Given the description of an element on the screen output the (x, y) to click on. 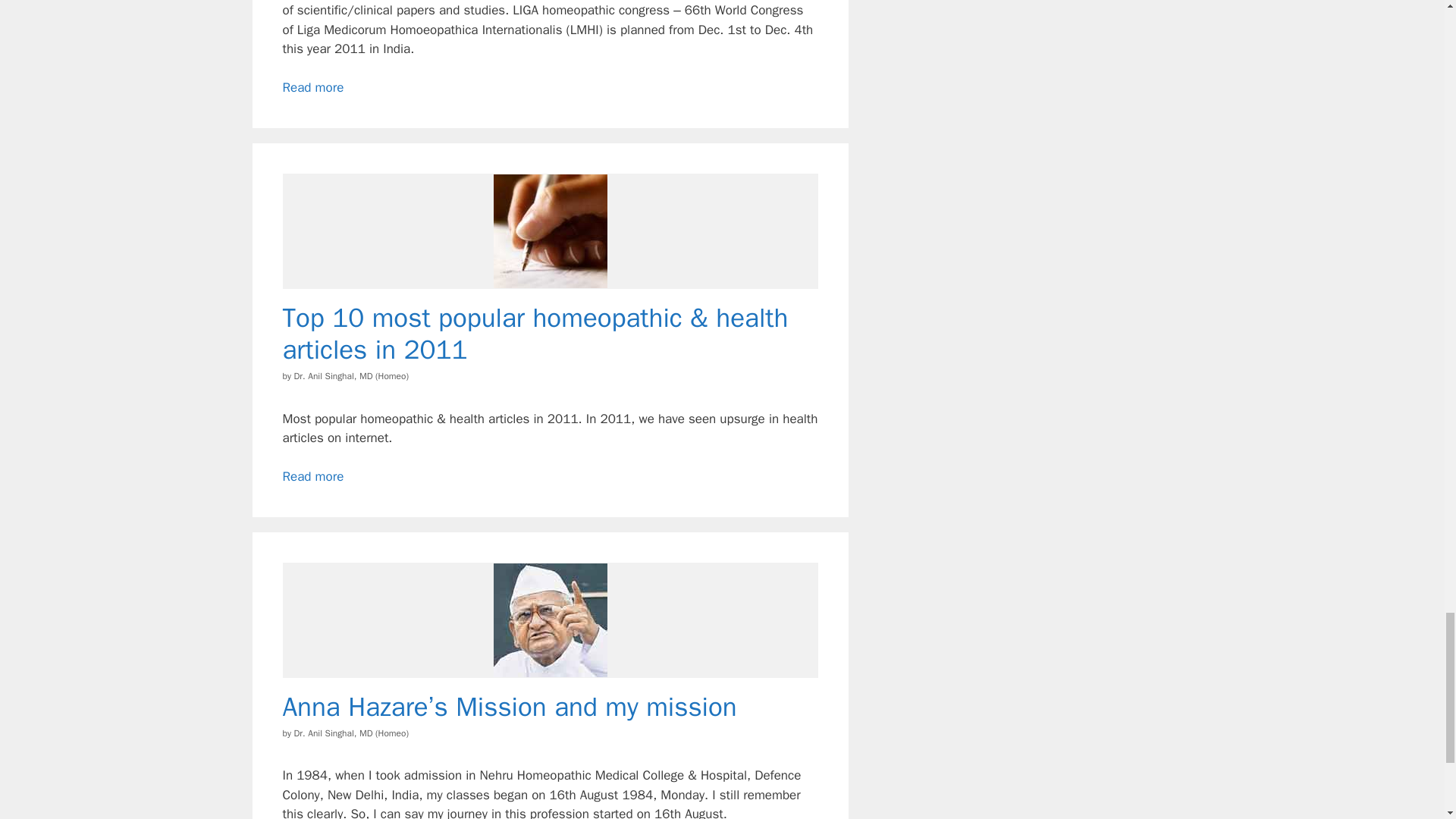
Read more (312, 87)
